Given the description of an element on the screen output the (x, y) to click on. 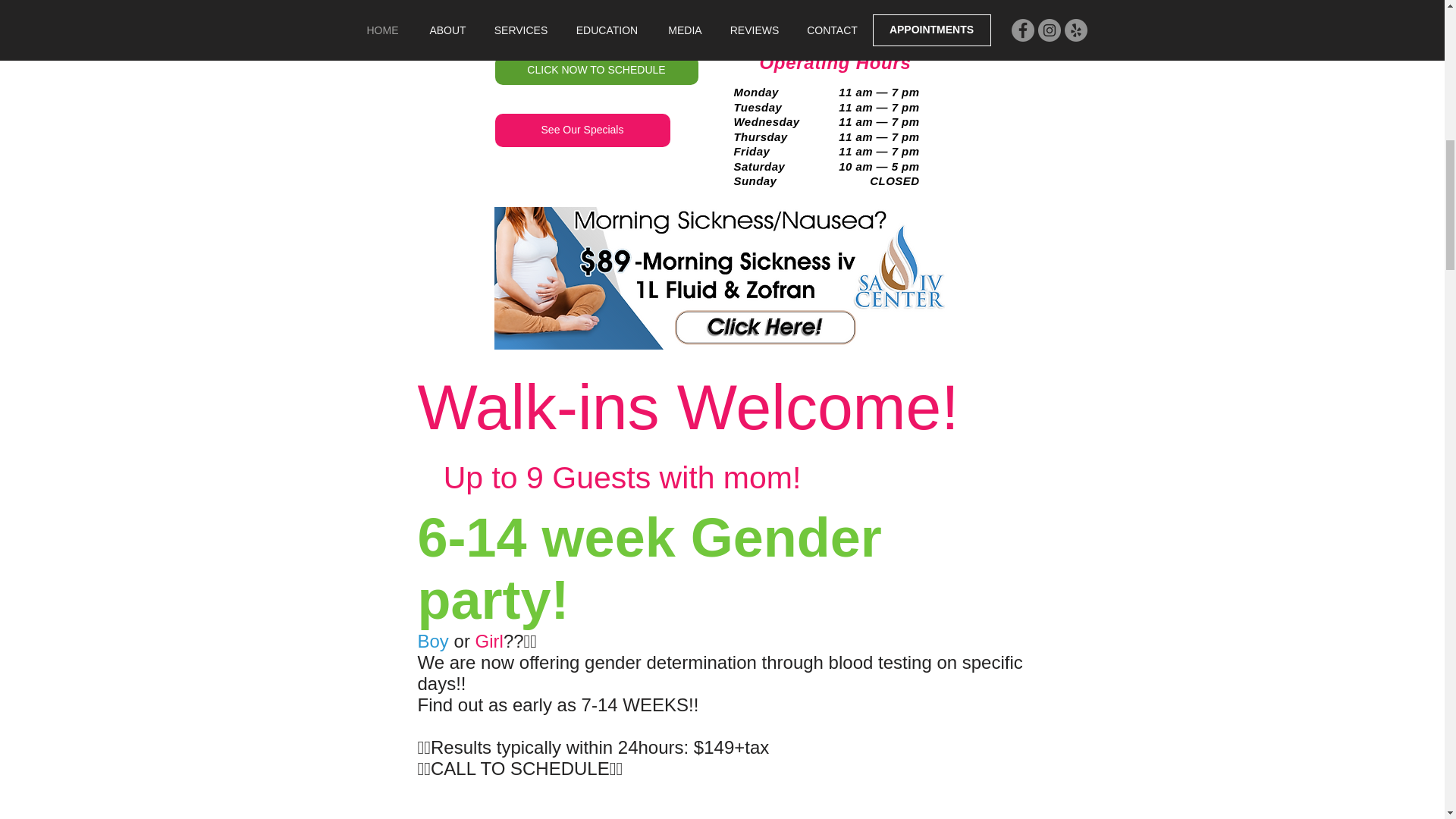
See Our Specials (582, 130)
CLICK NOW TO SCHEDULE (596, 70)
